Given the description of an element on the screen output the (x, y) to click on. 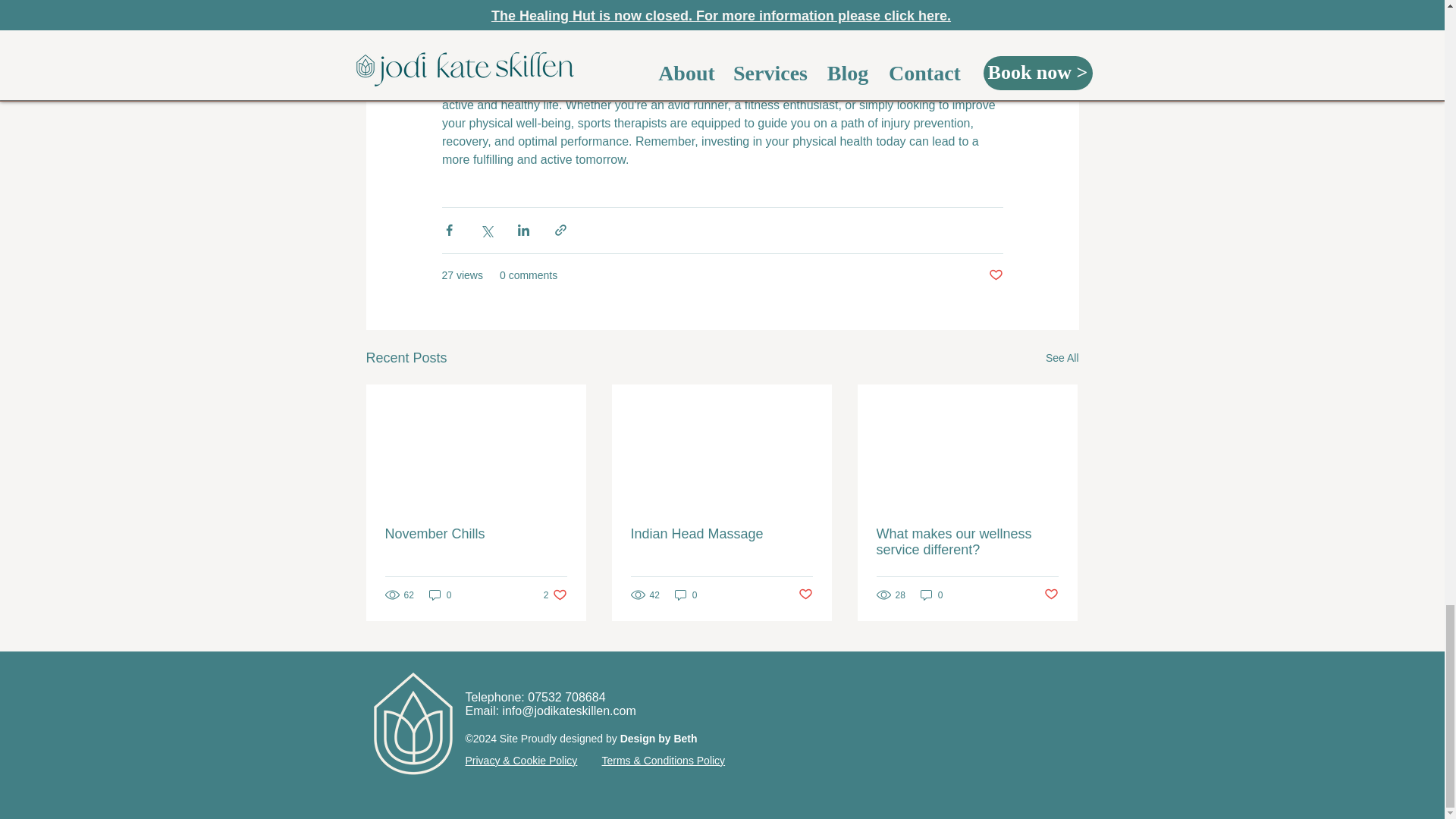
What makes our wellness service different? (967, 541)
November Chills (476, 534)
Post not marked as liked (804, 594)
Post not marked as liked (995, 275)
0 (440, 594)
Design by Beth (555, 594)
Post not marked as liked (658, 738)
Indian Head Massage (1050, 594)
0 (721, 534)
